Given the description of an element on the screen output the (x, y) to click on. 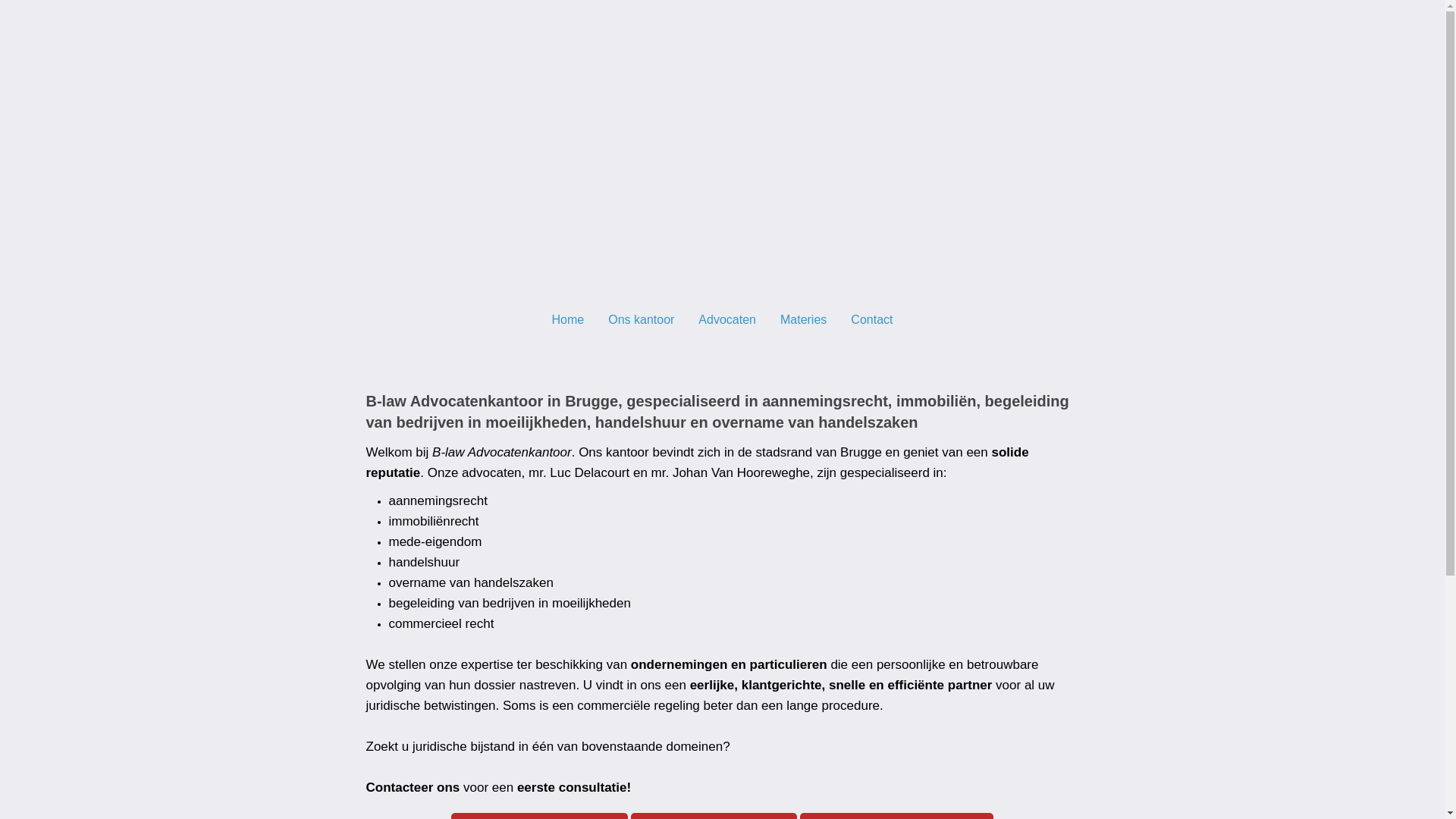
Home Element type: text (567, 317)
Advocaten Element type: text (727, 317)
Materies Element type: text (803, 317)
Contact Element type: text (871, 317)
Ons kantoor Element type: text (641, 317)
